Given the description of an element on the screen output the (x, y) to click on. 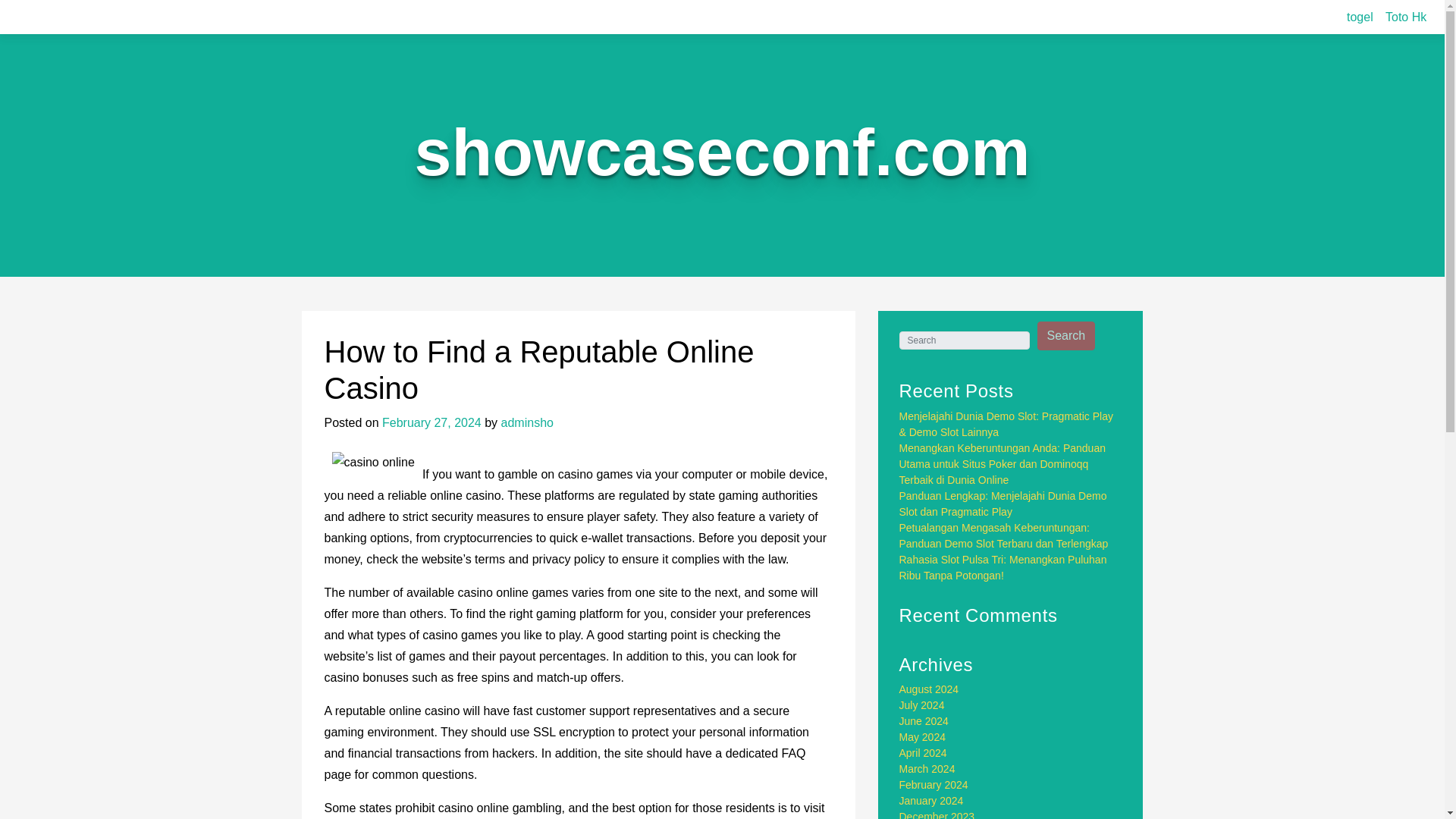
March 2024 (927, 768)
February 27, 2024 (431, 422)
Search (1066, 335)
August 2024 (929, 689)
July 2024 (921, 705)
June 2024 (924, 720)
May 2024 (921, 736)
Toto Hk (1405, 16)
